Given the description of an element on the screen output the (x, y) to click on. 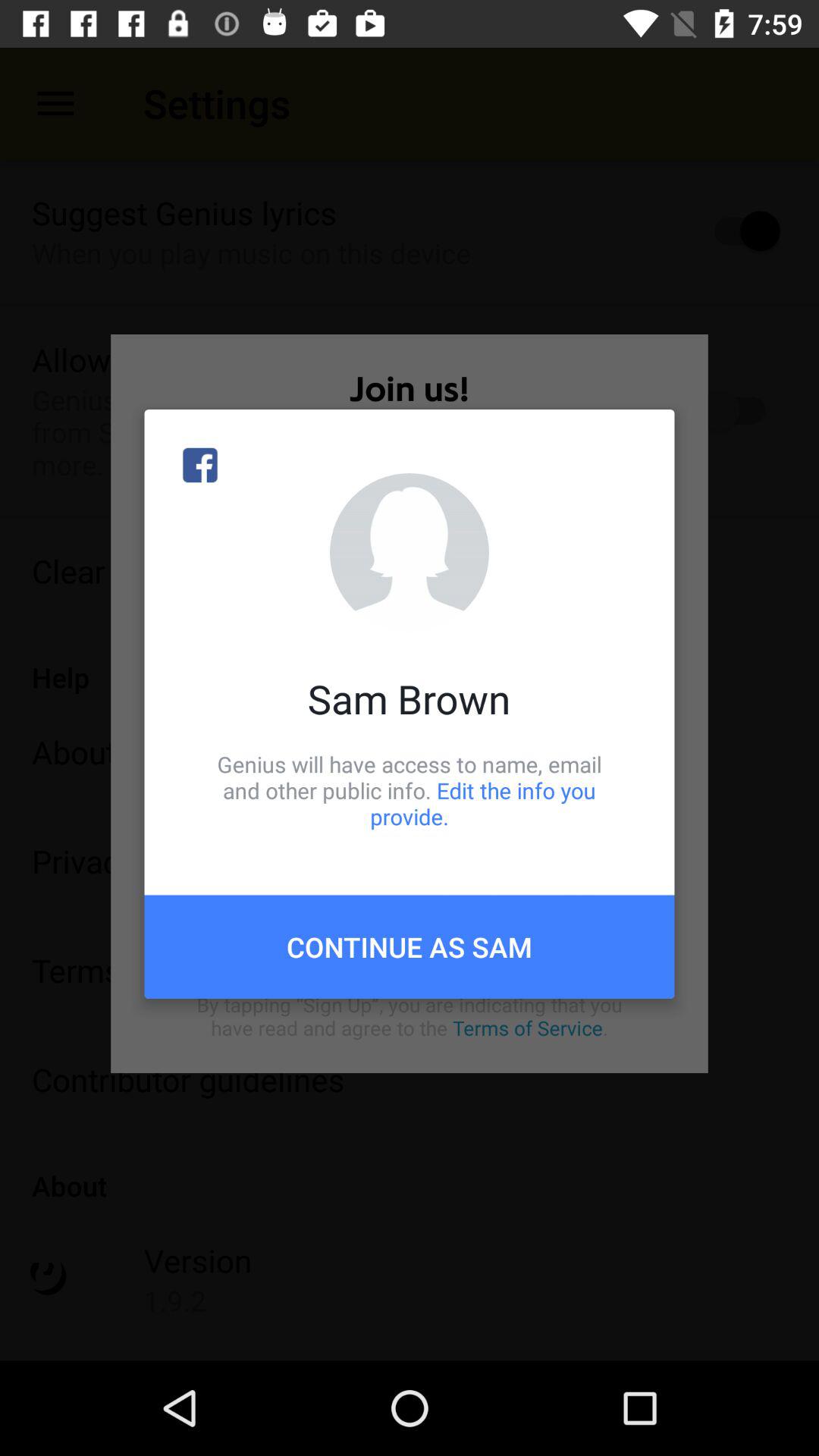
flip until genius will have icon (409, 790)
